Given the description of an element on the screen output the (x, y) to click on. 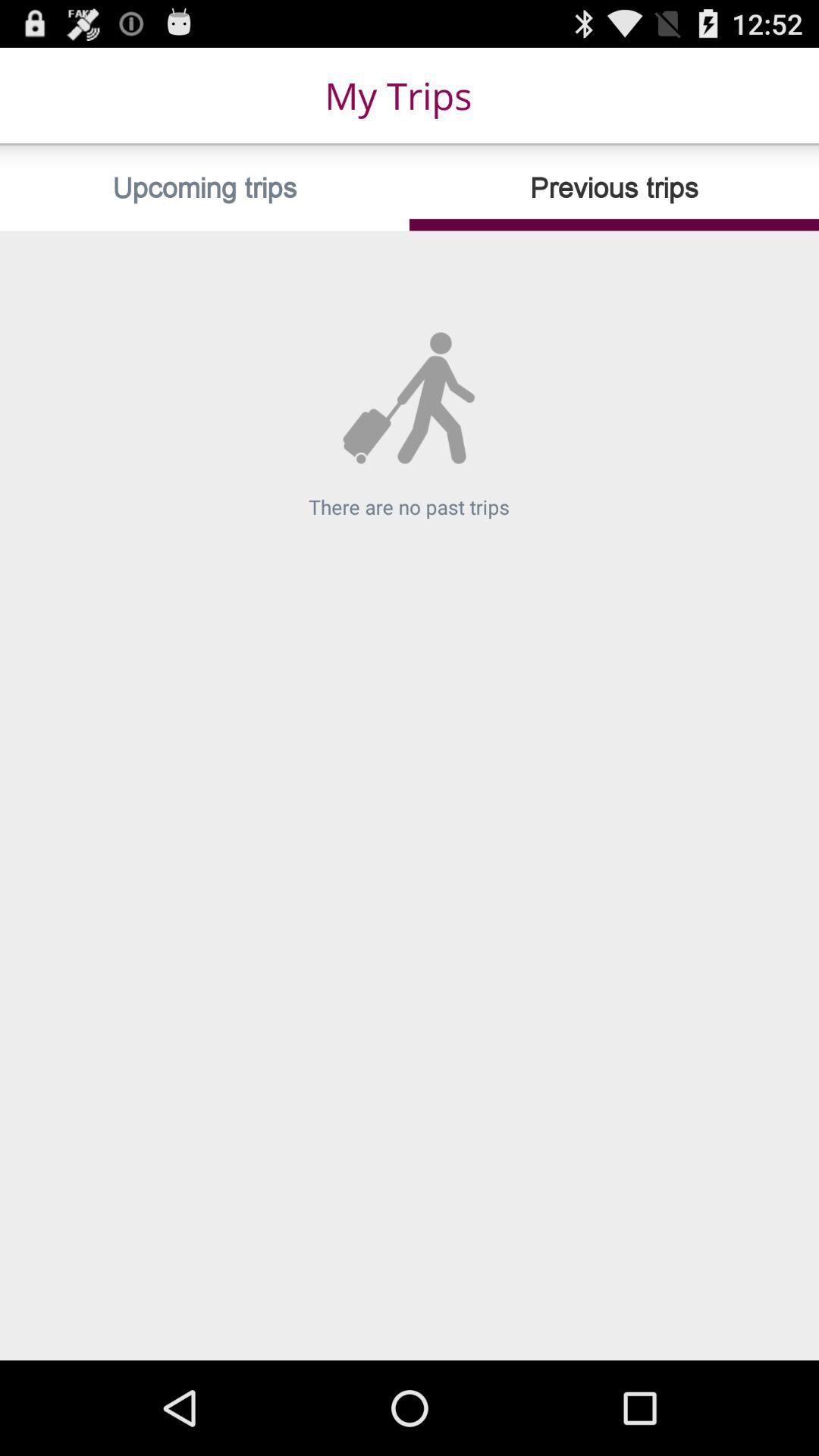
press the item at the top right corner (614, 187)
